Given the description of an element on the screen output the (x, y) to click on. 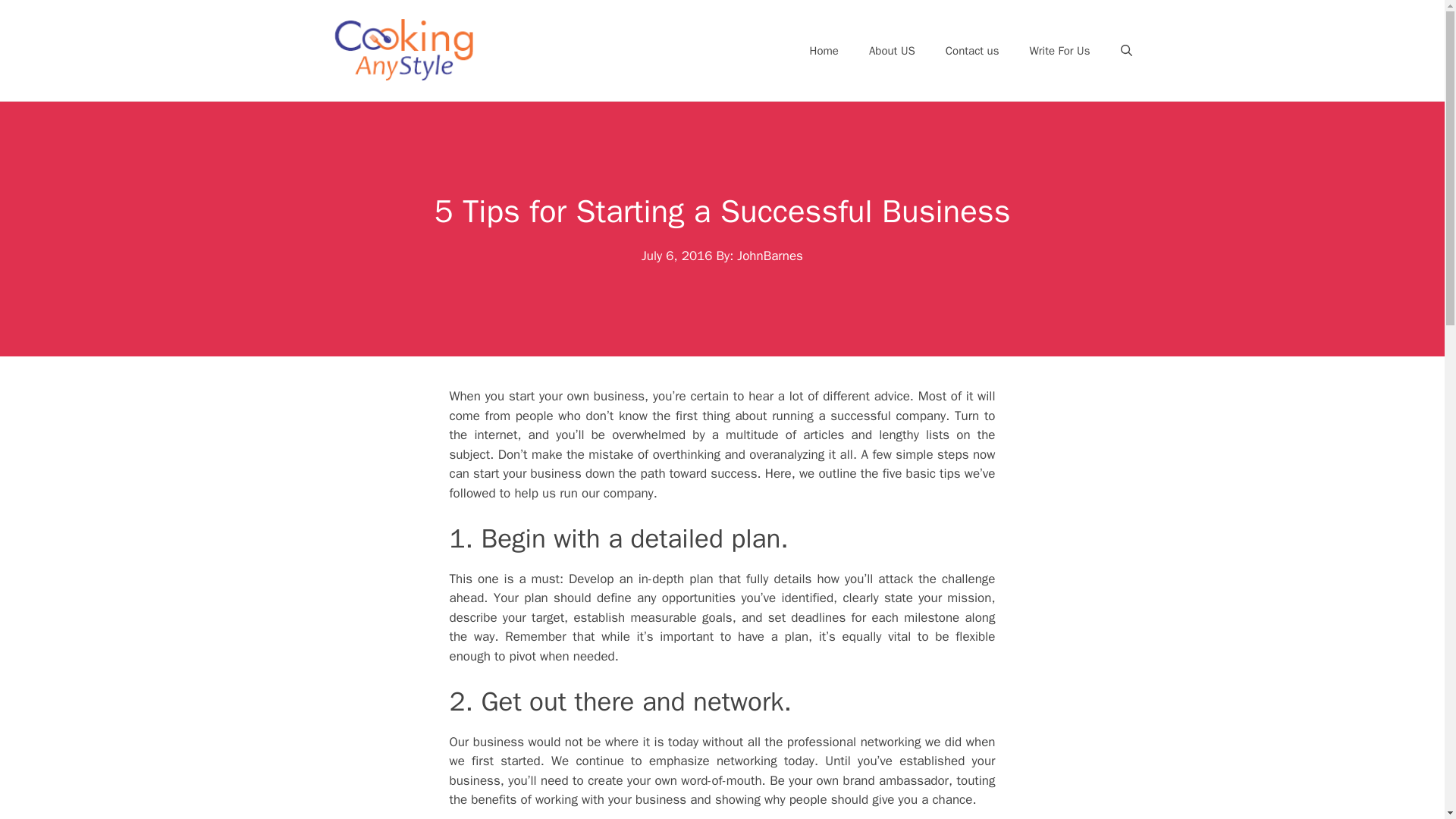
About US (891, 50)
Home (823, 50)
Contact us (972, 50)
Write For Us (1059, 50)
